Given the description of an element on the screen output the (x, y) to click on. 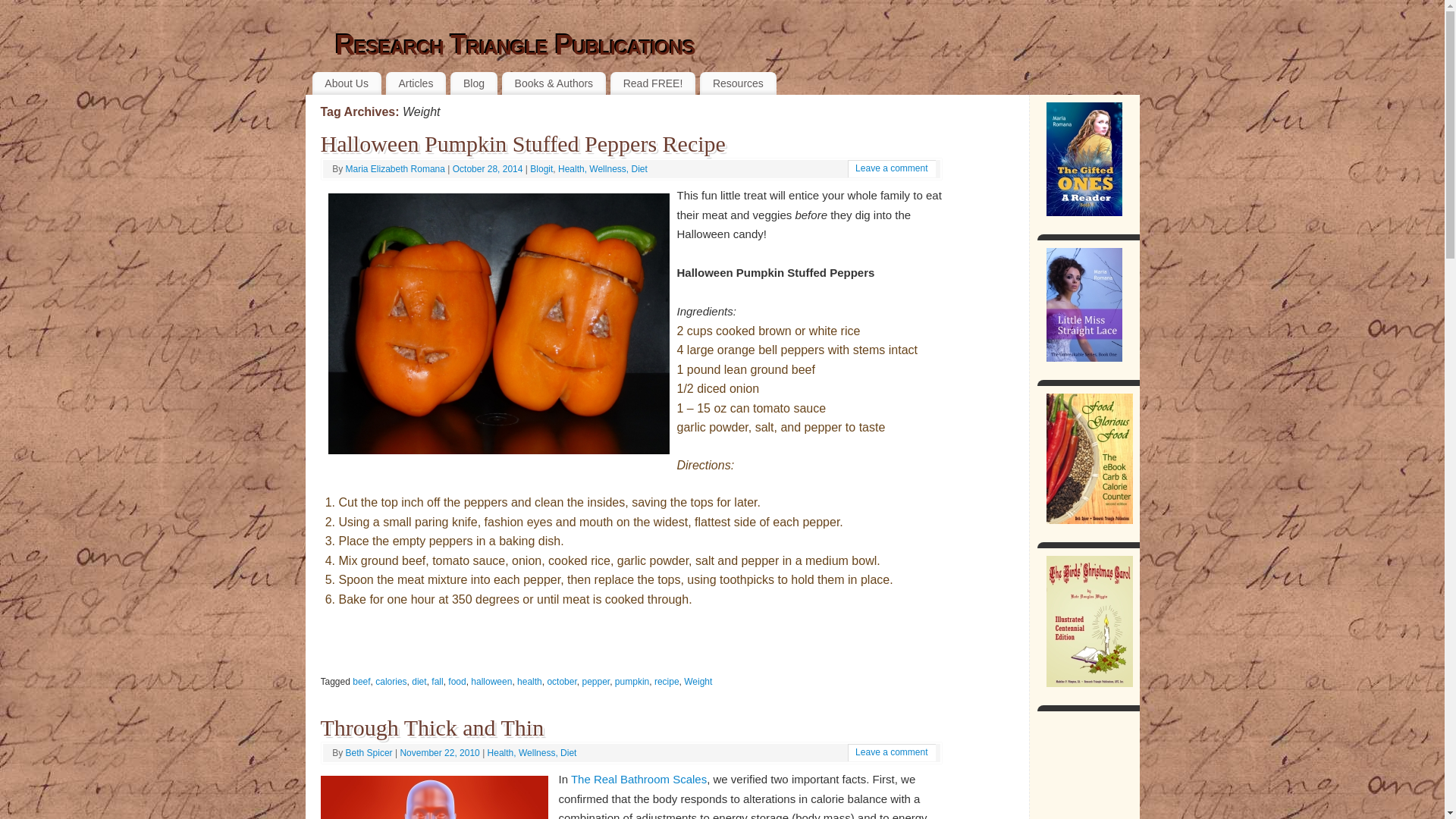
Research Triangle Publications (514, 44)
diet (419, 681)
Blogit (541, 168)
Maria Elizabeth Romana (395, 168)
Research Triangle Publications (514, 44)
Blog (473, 83)
Read FREE! (652, 83)
View all posts by Beth Spicer (369, 752)
beef (360, 681)
Articles (415, 83)
